Given the description of an element on the screen output the (x, y) to click on. 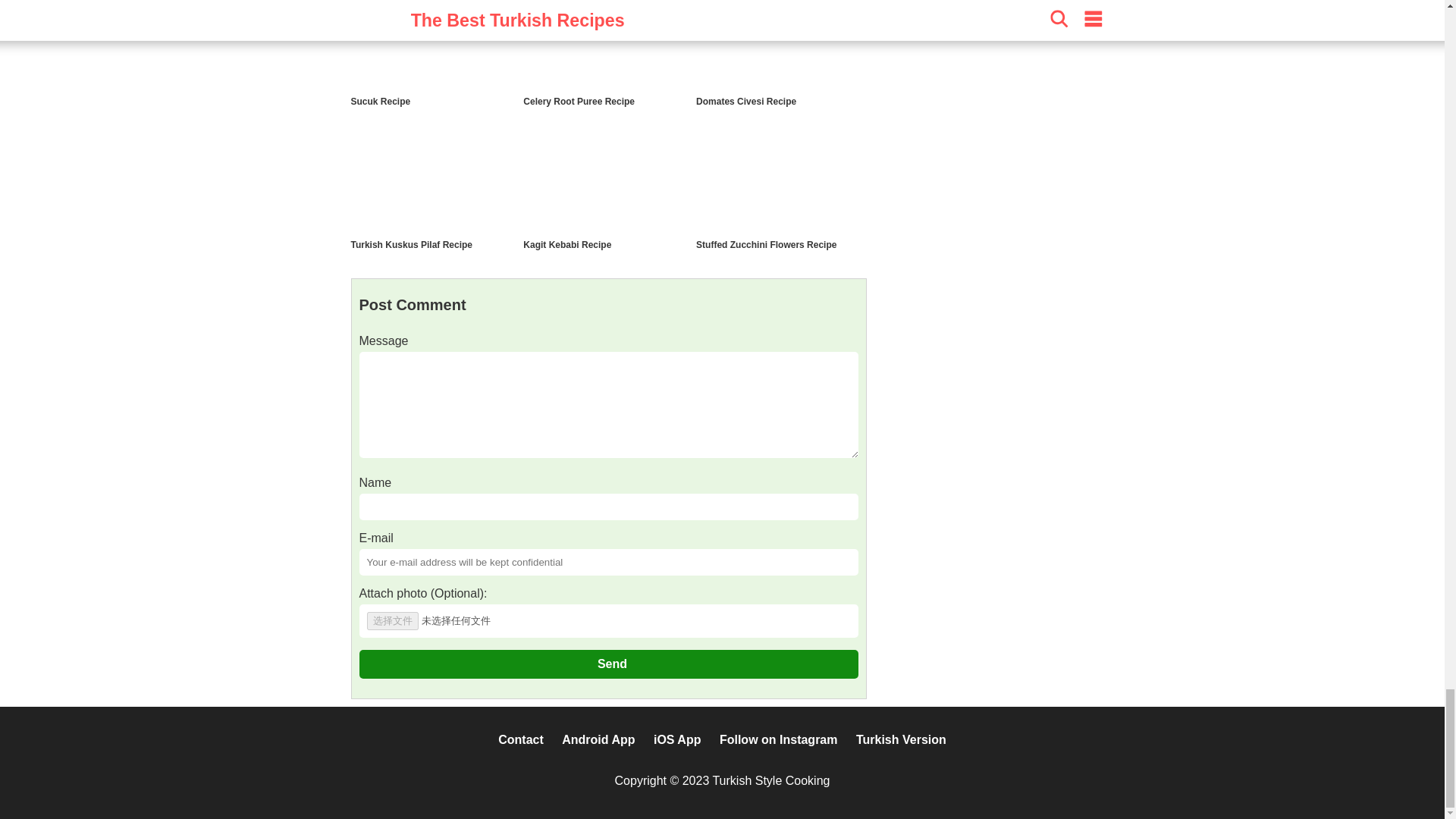
Celery Root Puree Recipe (578, 101)
Send (609, 664)
Sucuk Recipe (380, 101)
Kagit Kebabi Recipe (566, 244)
Send (609, 664)
Stuffed Zucchini Flowers Recipe (765, 244)
Domates Civesi Recipe (745, 101)
Turkish Kuskus Pilaf Recipe (410, 244)
